Given the description of an element on the screen output the (x, y) to click on. 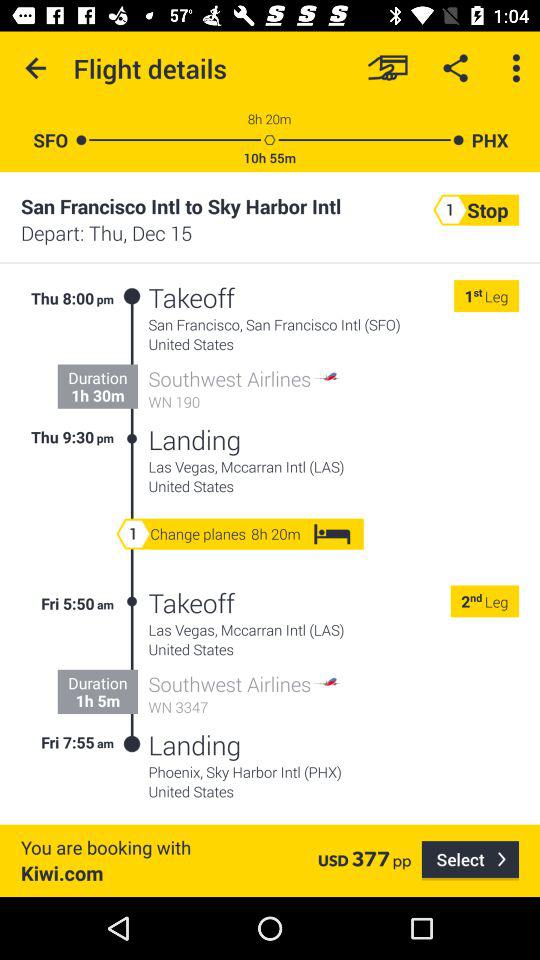
tap the icon to the left of the takeoff (131, 673)
